Given the description of an element on the screen output the (x, y) to click on. 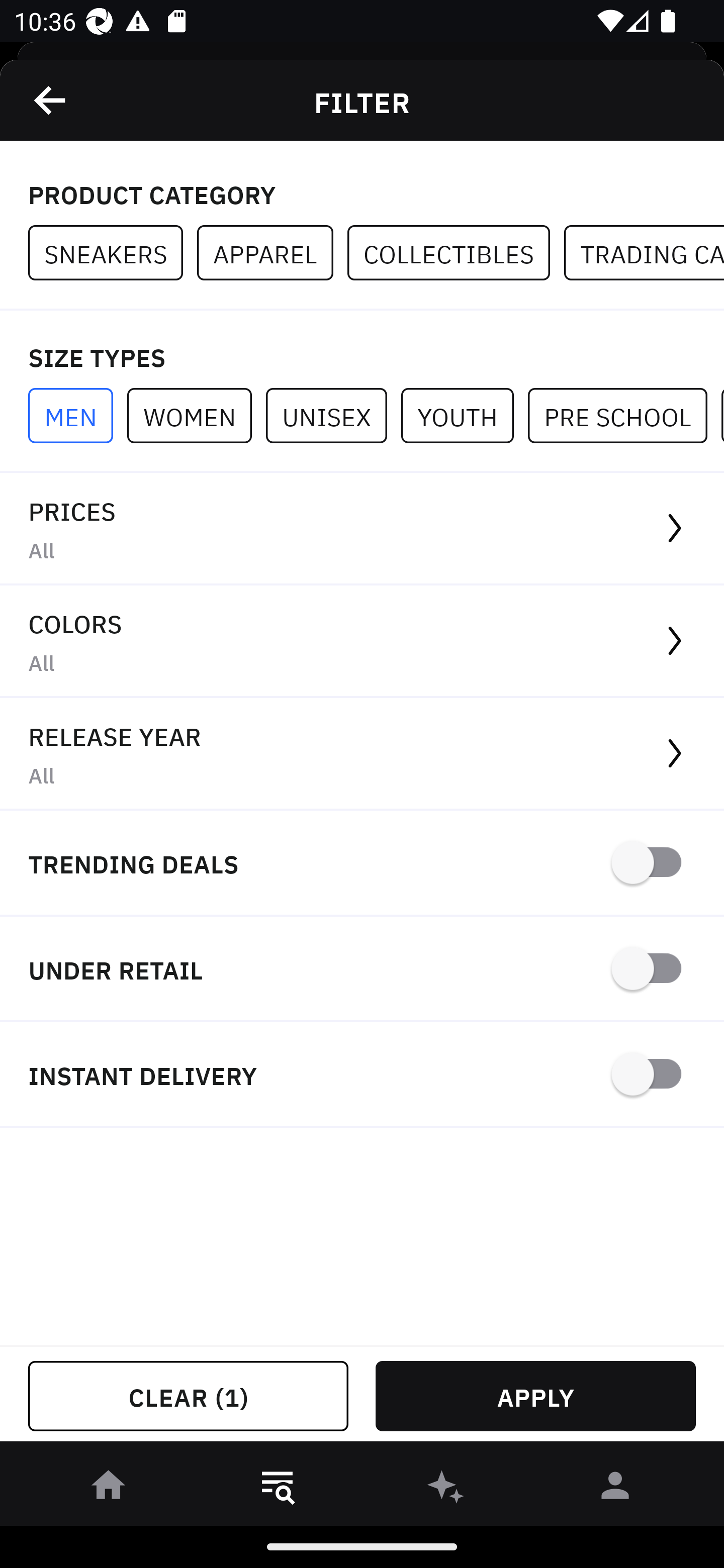
 (50, 100)
SNEAKERS (112, 252)
APPAREL (271, 252)
COLLECTIBLES (455, 252)
TRADING CARDS (643, 252)
MEN (77, 415)
WOMEN (196, 415)
UNISEX (333, 415)
YOUTH (464, 415)
PRE SCHOOL (624, 415)
PRICES All (362, 528)
COLORS All (362, 640)
RELEASE YEAR All (362, 753)
TRENDING DEALS (362, 863)
UNDER RETAIL (362, 969)
INSTANT DELIVERY (362, 1075)
CLEAR (1) (188, 1396)
APPLY (535, 1396)
󰋜 (108, 1488)
󱎸 (277, 1488)
󰫢 (446, 1488)
󰀄 (615, 1488)
